Given the description of an element on the screen output the (x, y) to click on. 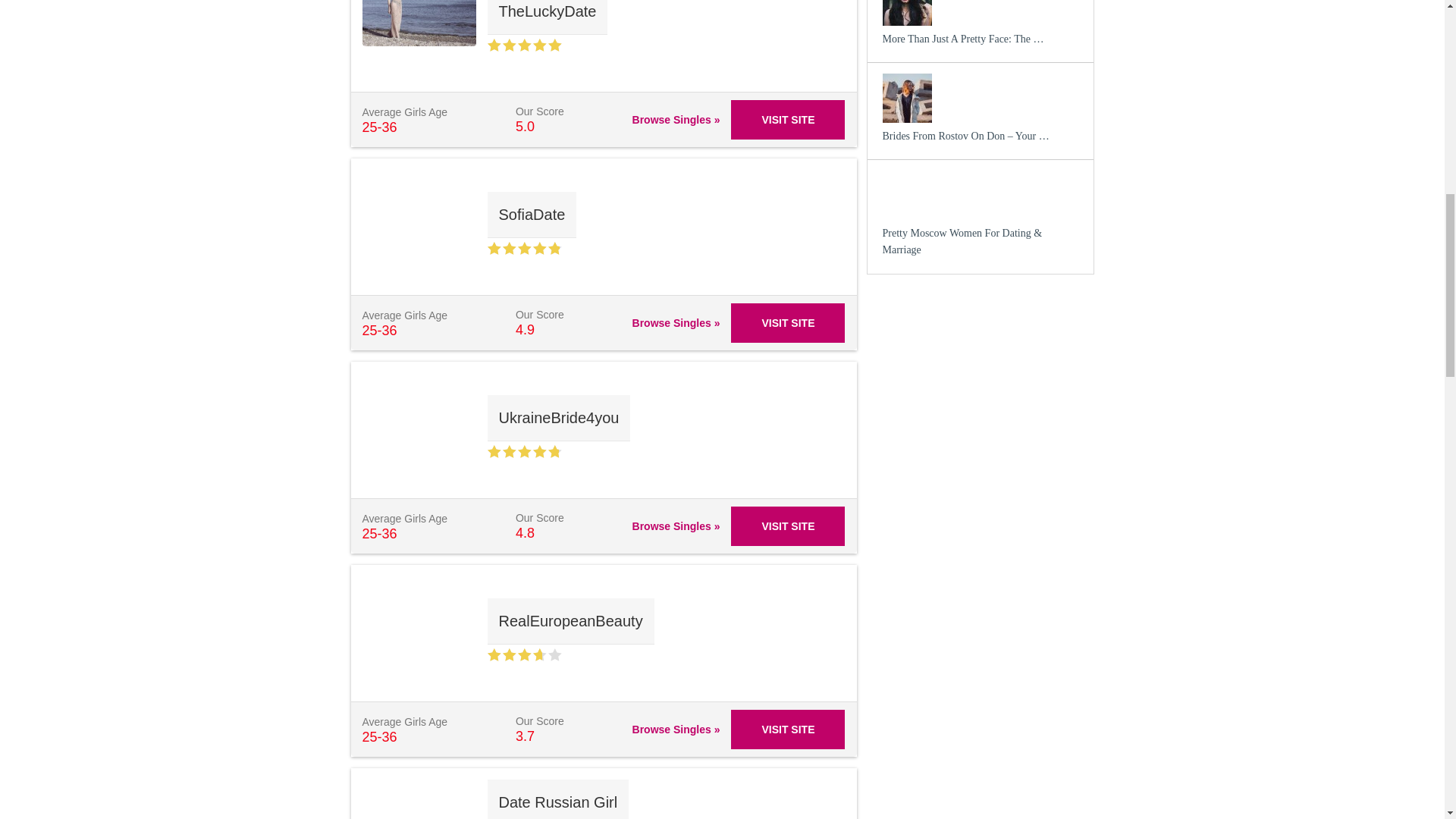
VISIT SITE (787, 119)
VISIT SITE (787, 729)
Date Russian Girl (557, 799)
Our Score (523, 654)
Our Score (523, 44)
Our Score (523, 451)
VISIT SITE (787, 323)
Our Score (523, 247)
VISIT SITE (787, 526)
